Given the description of an element on the screen output the (x, y) to click on. 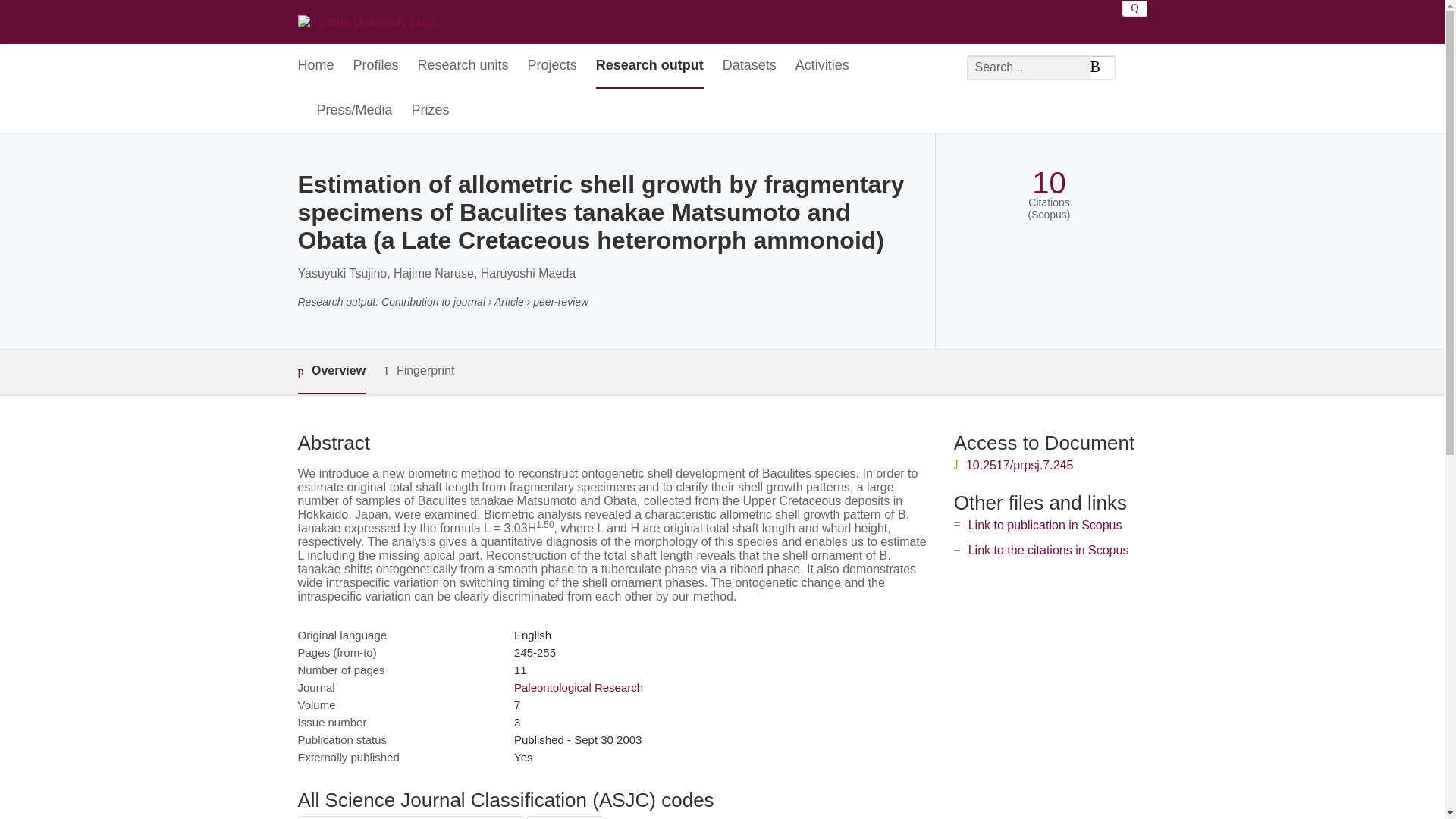
Link to the citations in Scopus (1048, 549)
Fingerprint (419, 371)
Overview (331, 371)
Link to publication in Scopus (1045, 524)
Activities (821, 66)
10 (1048, 182)
Research units (462, 66)
Profiles (375, 66)
Kyushu University Home (366, 21)
